Given the description of an element on the screen output the (x, y) to click on. 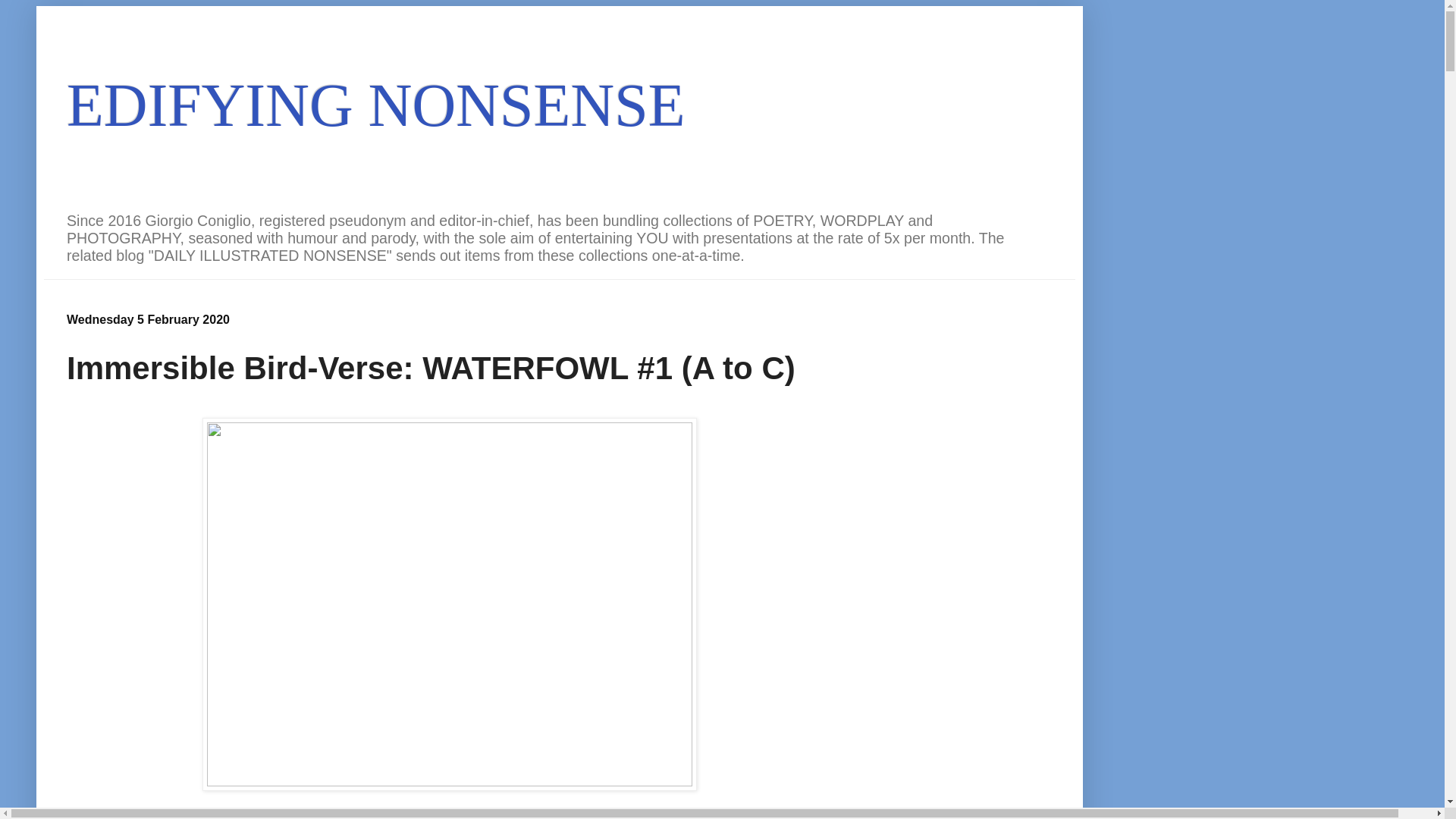
EDIFYING NONSENSE (375, 105)
